Given the description of an element on the screen output the (x, y) to click on. 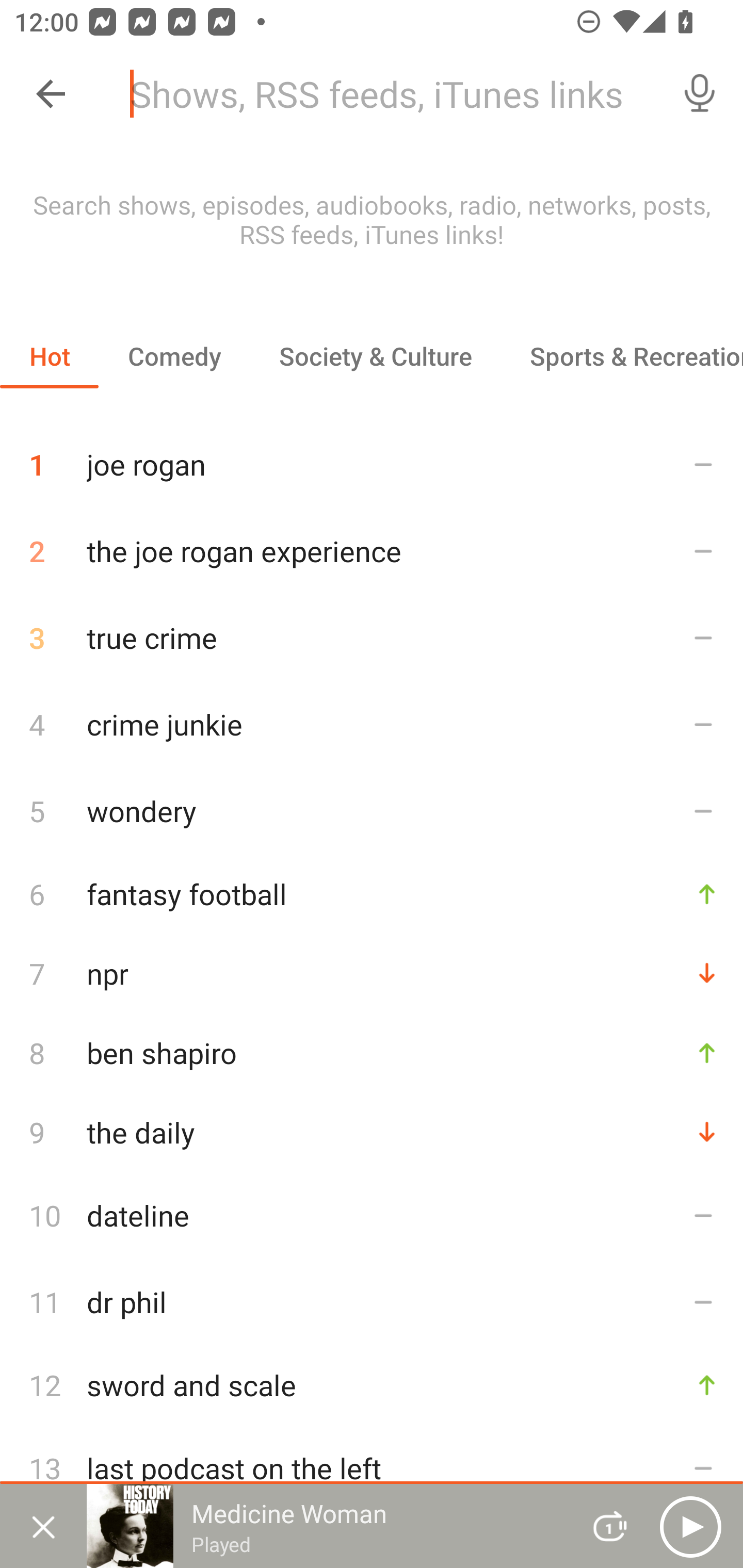
Collapse (50, 93)
Voice Search (699, 93)
Shows, RSS feeds, iTunes links (385, 94)
Hot (49, 355)
Comedy (173, 355)
Society & Culture (374, 355)
Sports & Recreation (621, 355)
1 joe rogan (371, 457)
2 the joe rogan experience (371, 551)
3 true crime (371, 637)
4 crime junkie (371, 723)
5 wondery (371, 810)
6 fantasy football (371, 893)
7 npr (371, 972)
8 ben shapiro (371, 1052)
9 the daily (371, 1131)
10 dateline (371, 1215)
11 dr phil (371, 1302)
12 sword and scale (371, 1385)
13 last podcast on the left (371, 1468)
Medicine Woman Played (326, 1525)
Play (690, 1526)
